Given the description of an element on the screen output the (x, y) to click on. 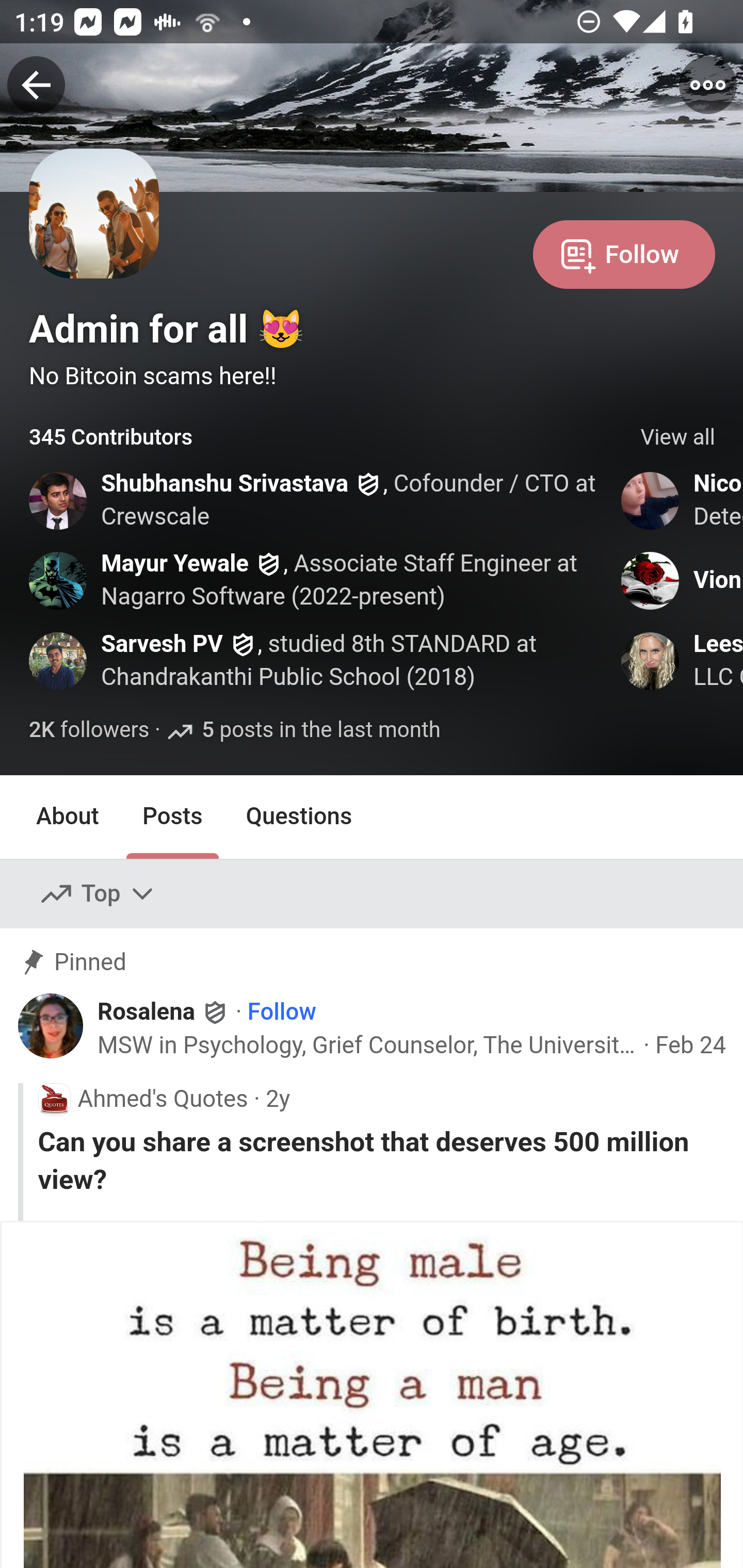
Follow (623, 252)
Admin for all 😻 (166, 329)
View all (677, 437)
Shubhanshu Srivastava (225, 484)
Profile photo for Shubhanshu Srivastava (58, 499)
Profile photo for Nicole Higginbotham (650, 499)
Mayur Yewale (174, 564)
Profile photo for Mayur Yewale (58, 579)
Profile photo for Vion Patel (650, 579)
Sarvesh PV (162, 643)
Profile photo for Sarvesh PV (58, 661)
Profile photo for Leesa Sage (650, 661)
2K followers (88, 731)
About (68, 816)
Posts (171, 816)
Questions (299, 816)
Top (97, 894)
Profile photo for Rosalena (50, 1025)
Rosalena Rosalena   (164, 1010)
Follow (281, 1011)
Feb 24 (690, 1045)
Icon for Ahmed's Quotes (54, 1098)
2y 2 y (277, 1098)
